Given the description of an element on the screen output the (x, y) to click on. 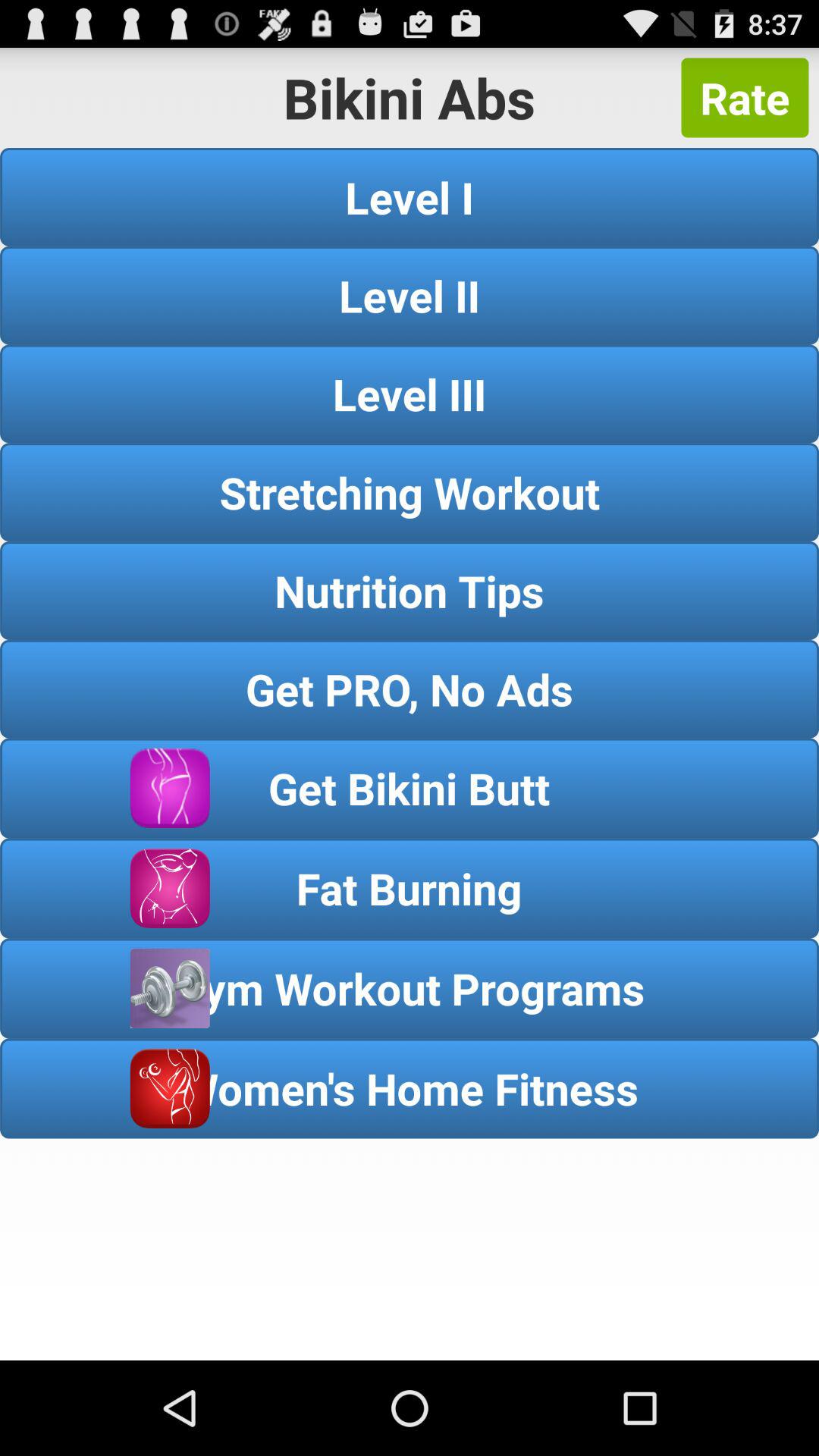
click rate item (744, 97)
